Given the description of an element on the screen output the (x, y) to click on. 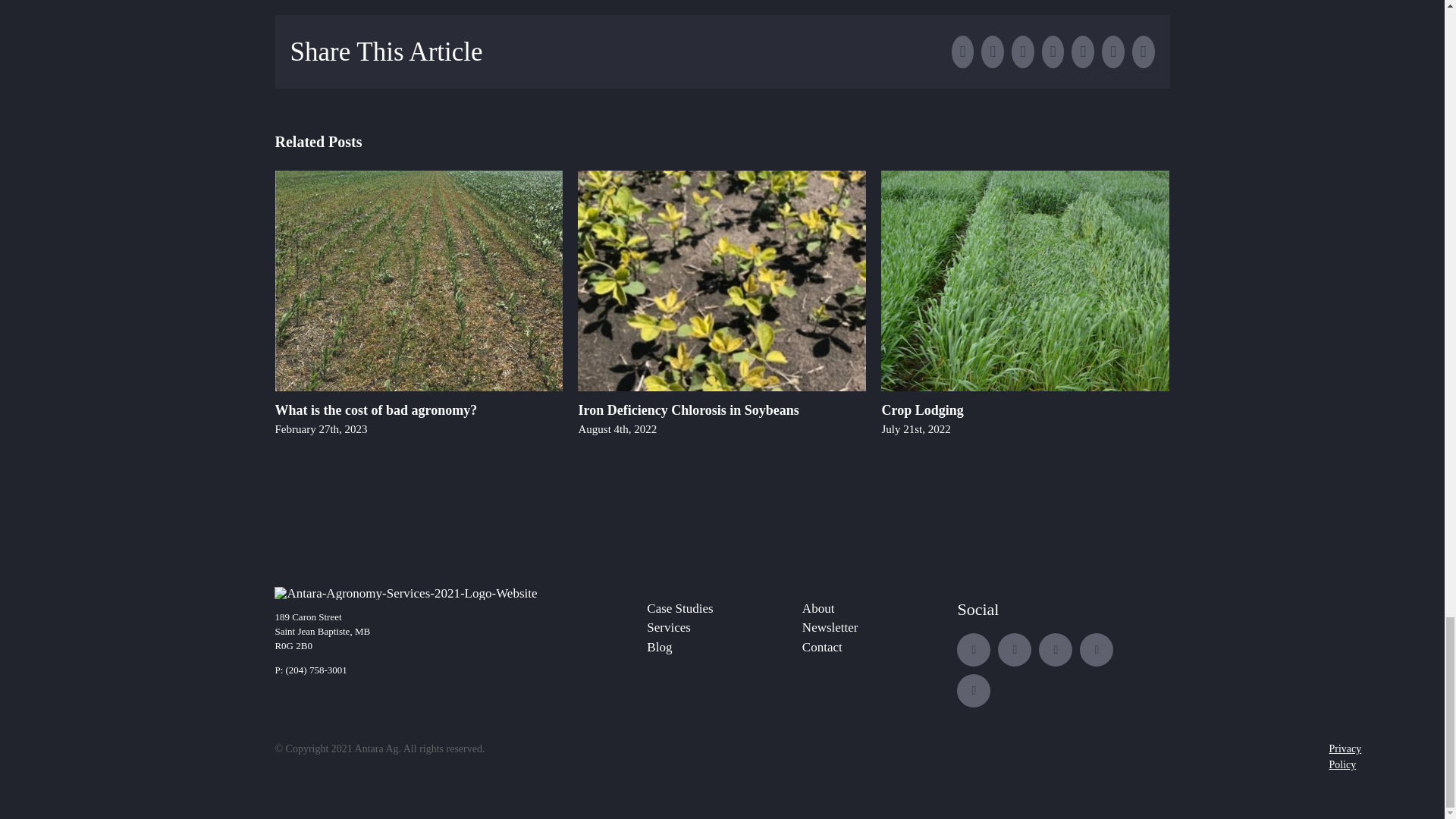
Crop Lodging (921, 409)
Iron Deficiency Chlorosis in Soybeans (687, 409)
What is the cost of bad agronomy? (376, 409)
Crop Lodging (921, 409)
Iron Deficiency Chlorosis in Soybeans (687, 409)
What is the cost of bad agronomy? (376, 409)
